Given the description of an element on the screen output the (x, y) to click on. 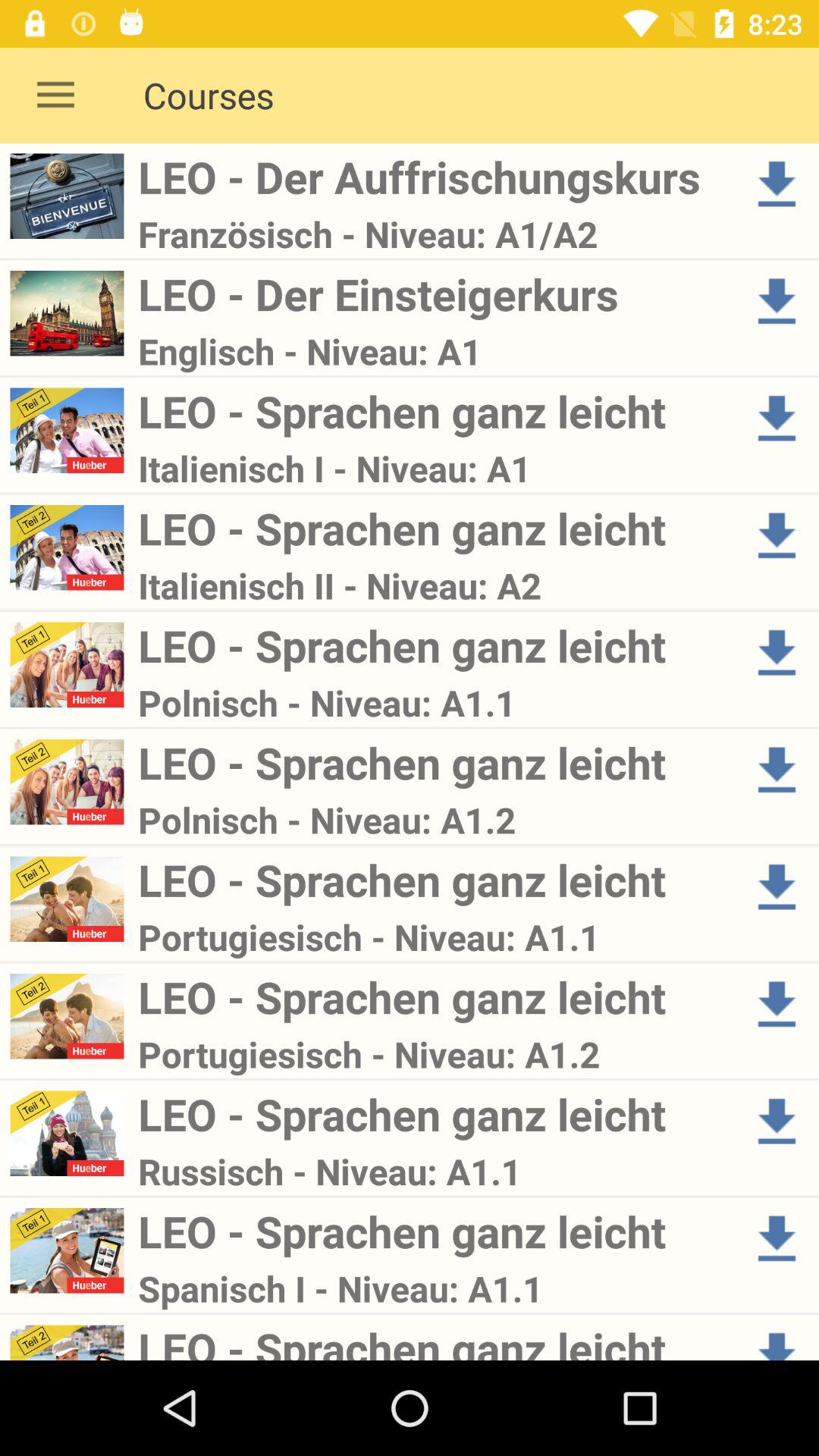
select the item below leo sprachen ganz item (434, 1288)
